Given the description of an element on the screen output the (x, y) to click on. 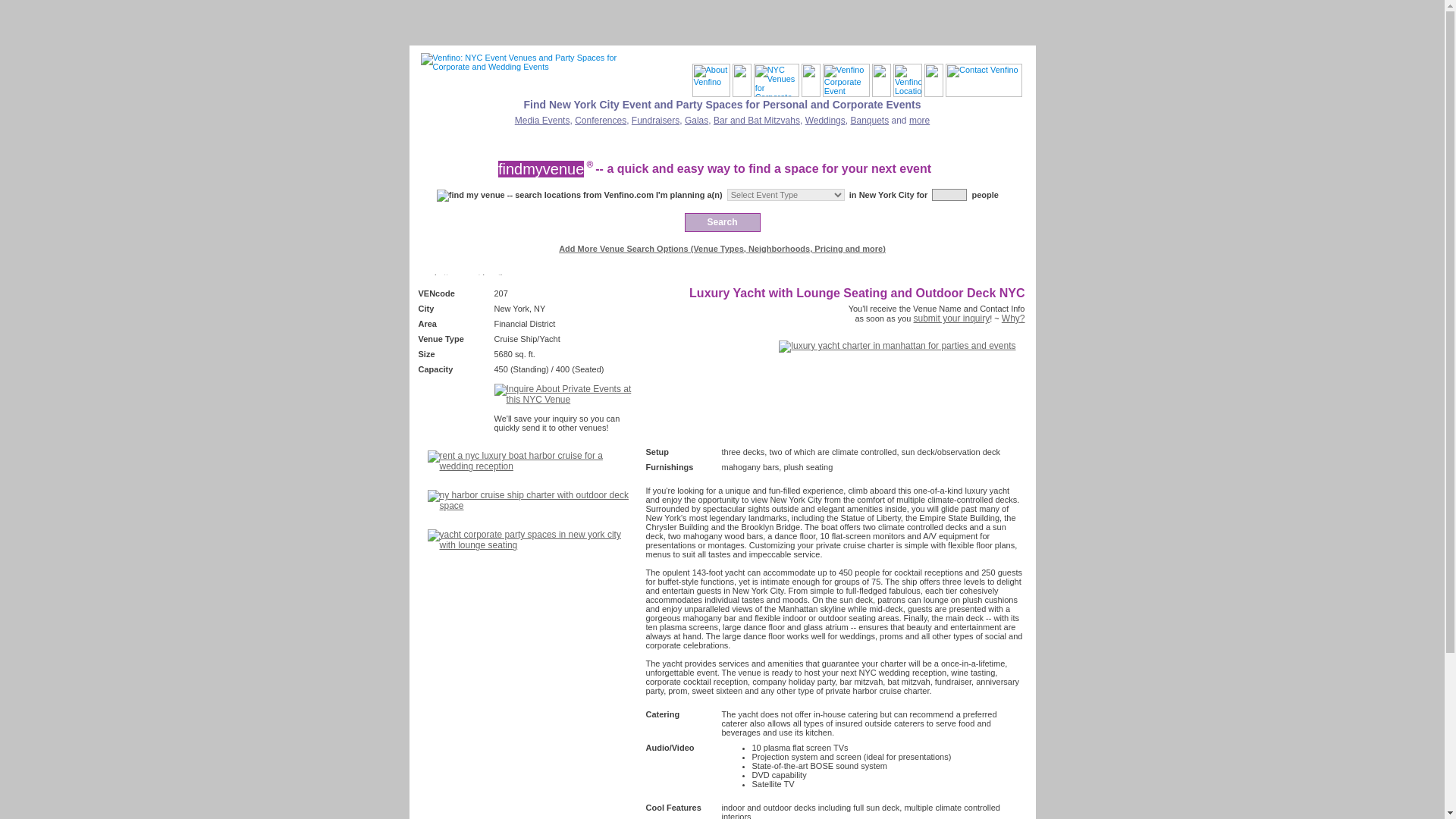
Galas (695, 120)
Media Events (542, 120)
Conferences (600, 120)
Search (722, 221)
Weddings (825, 120)
Search (722, 221)
Bar and Bat Mitzvahs (756, 120)
Fundraisers (655, 120)
submit your inquiry (951, 317)
Banquets (869, 120)
